Given the description of an element on the screen output the (x, y) to click on. 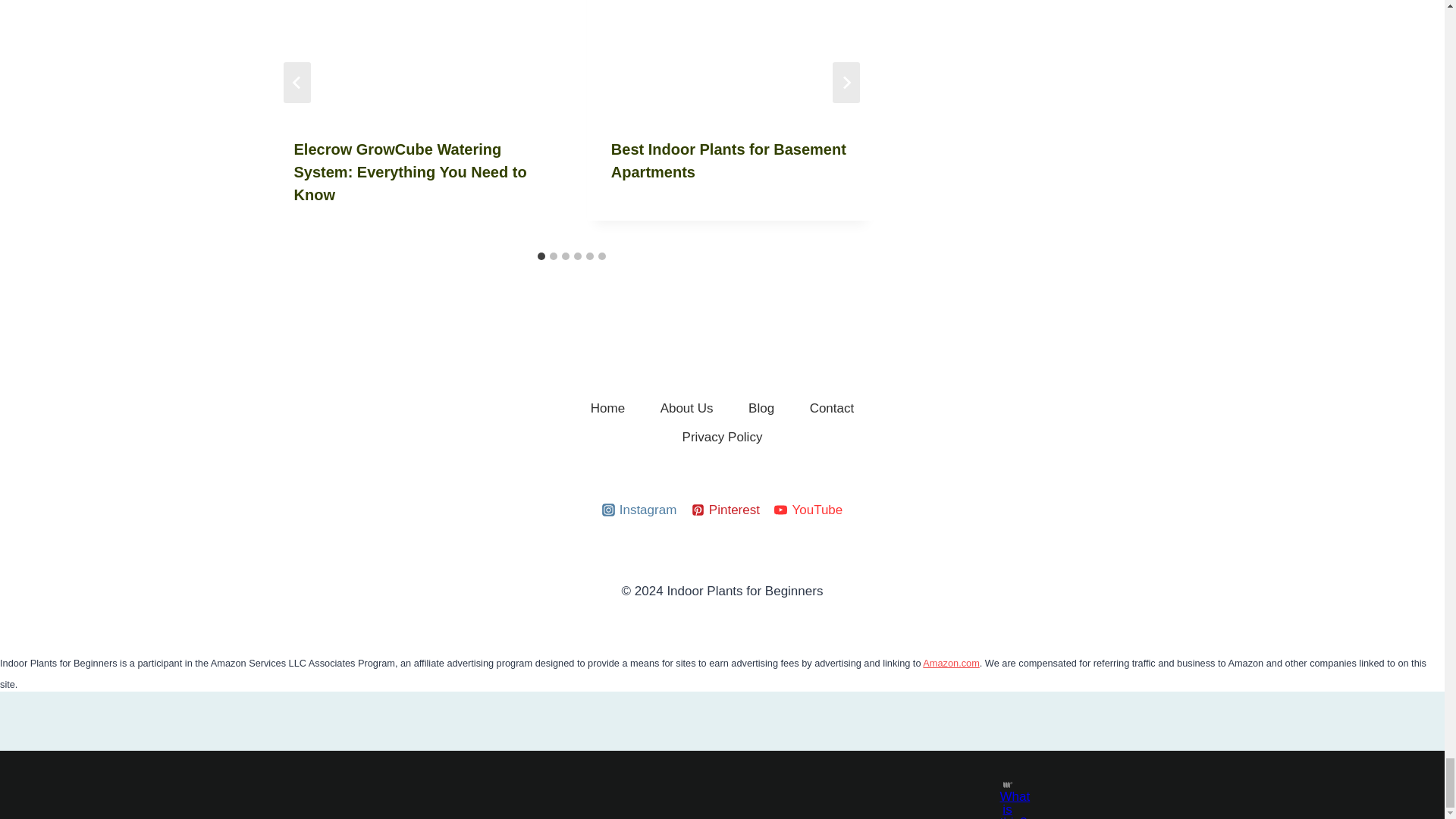
Best Indoor Plants for Basement Apartments (728, 160)
